Given the description of an element on the screen output the (x, y) to click on. 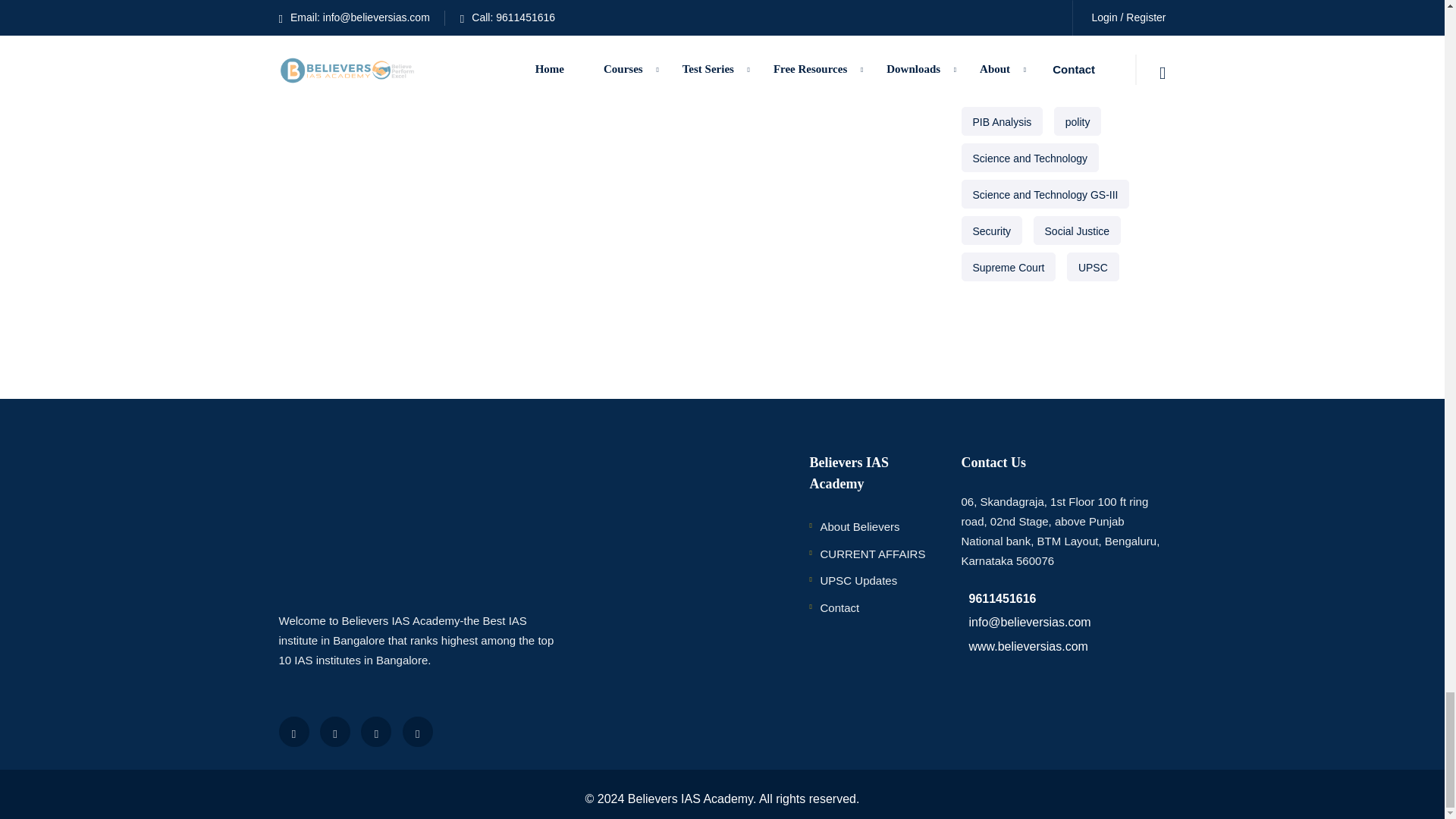
Facebook (293, 731)
Youtube (376, 731)
Twitter (335, 731)
Instagram (417, 731)
